Given the description of an element on the screen output the (x, y) to click on. 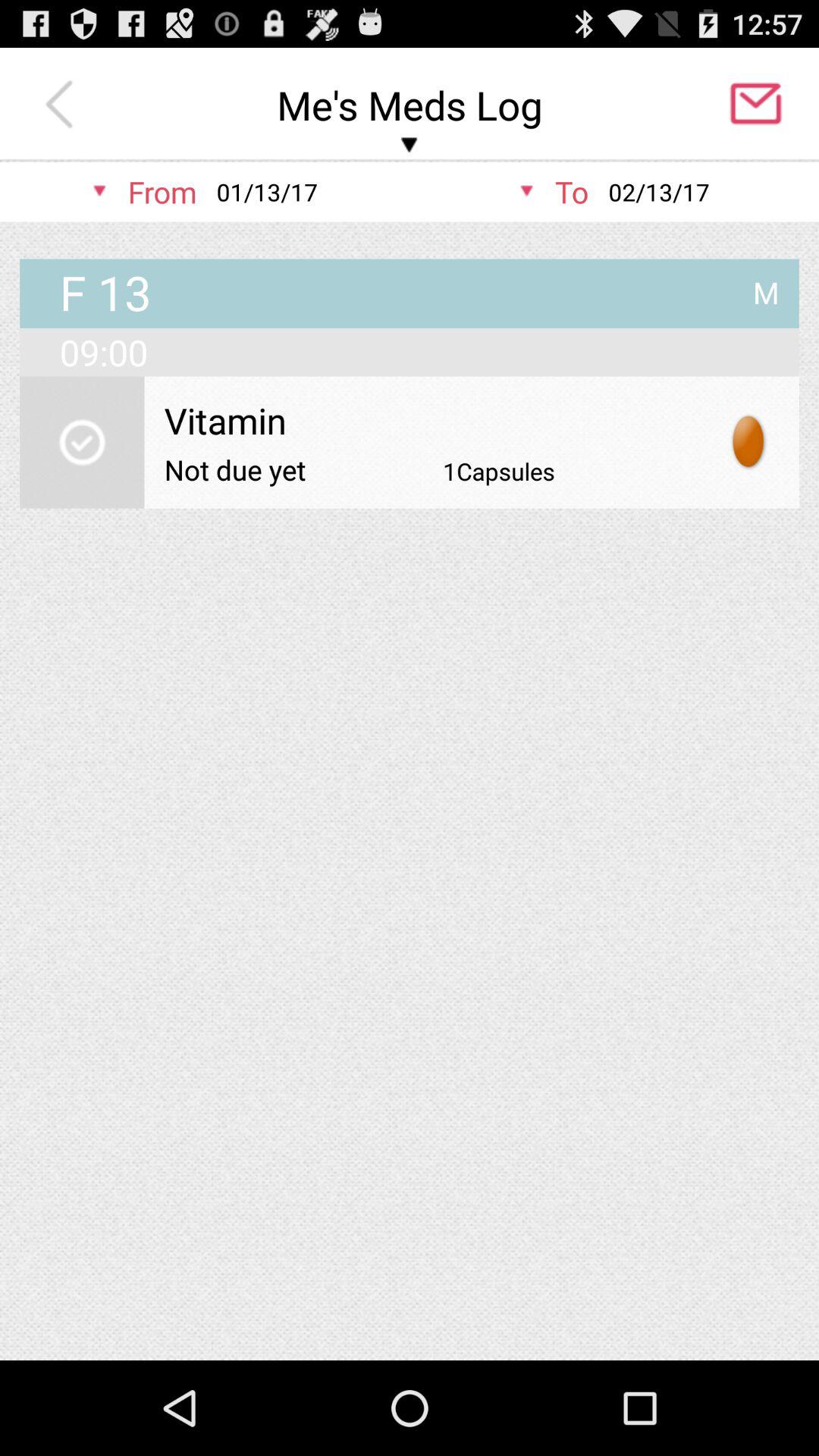
tap the app below the 09:00 app (431, 420)
